Given the description of an element on the screen output the (x, y) to click on. 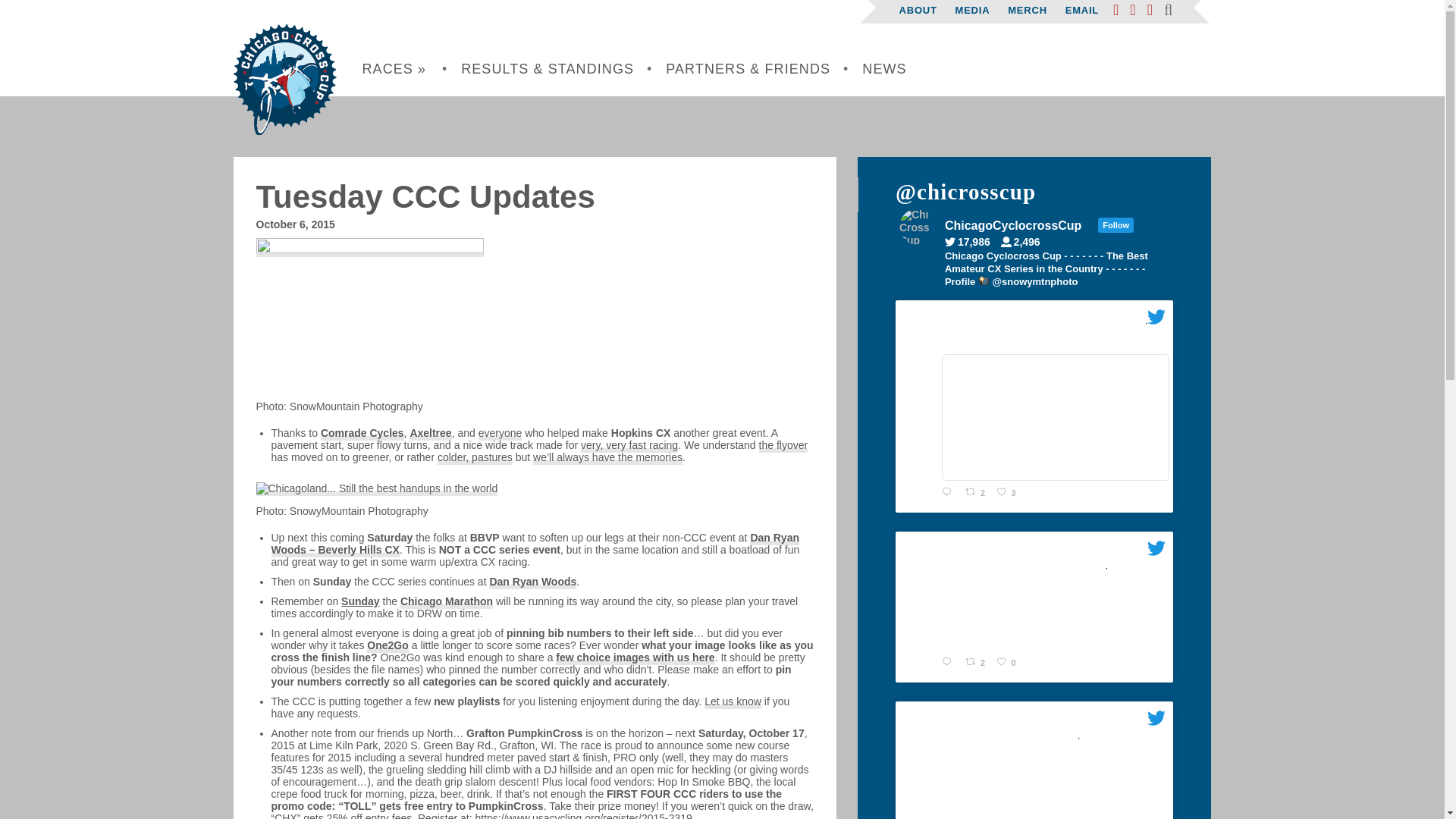
2,496 Followers (1024, 241)
Search (107, 307)
EMAIL (1082, 9)
MERCH (1027, 9)
17,986 Tweets (970, 241)
NEWS (884, 68)
ABOUT (917, 9)
MEDIA (972, 9)
Comrade Cycles (362, 433)
